Given the description of an element on the screen output the (x, y) to click on. 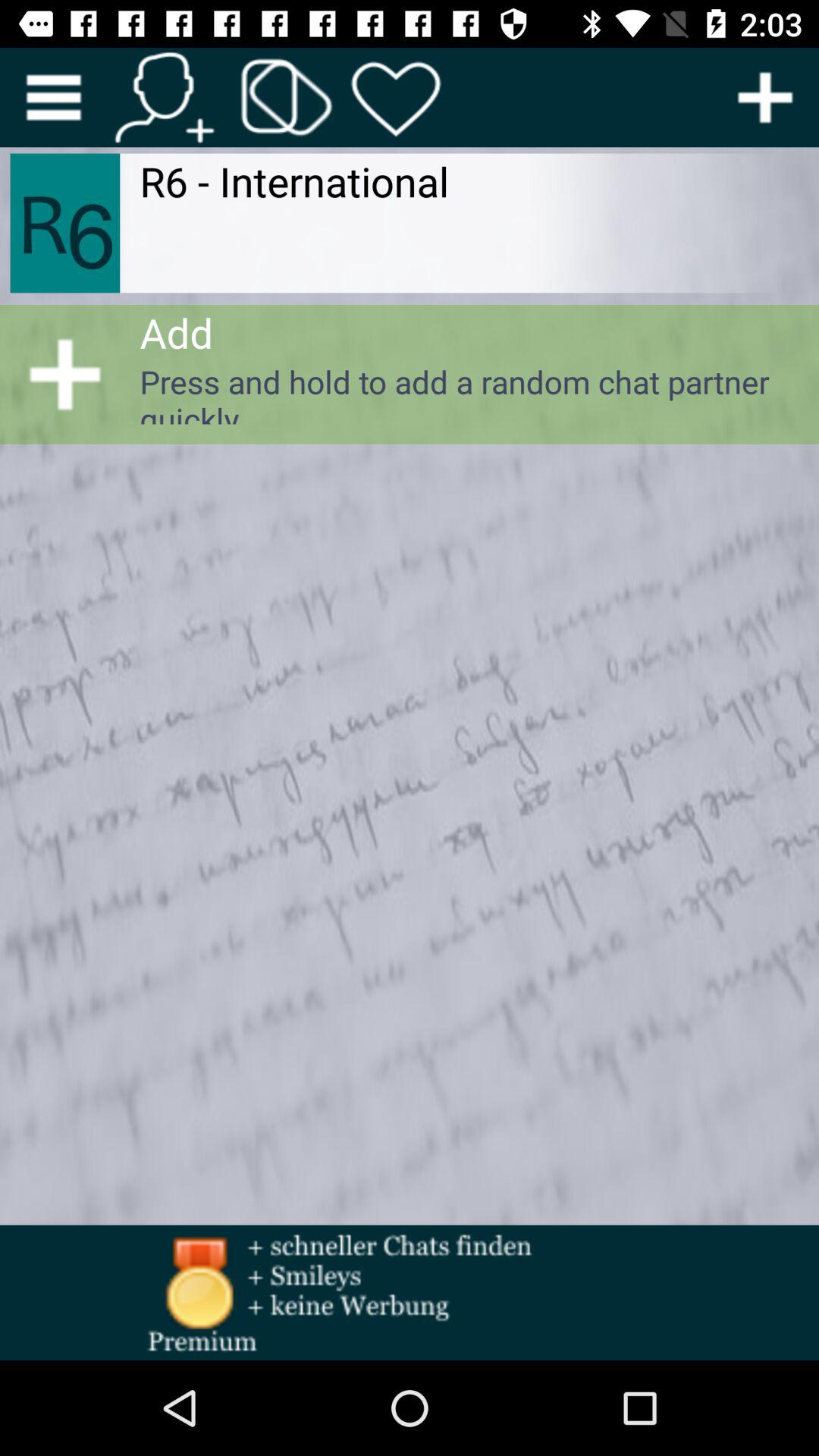
apps (286, 97)
